Given the description of an element on the screen output the (x, y) to click on. 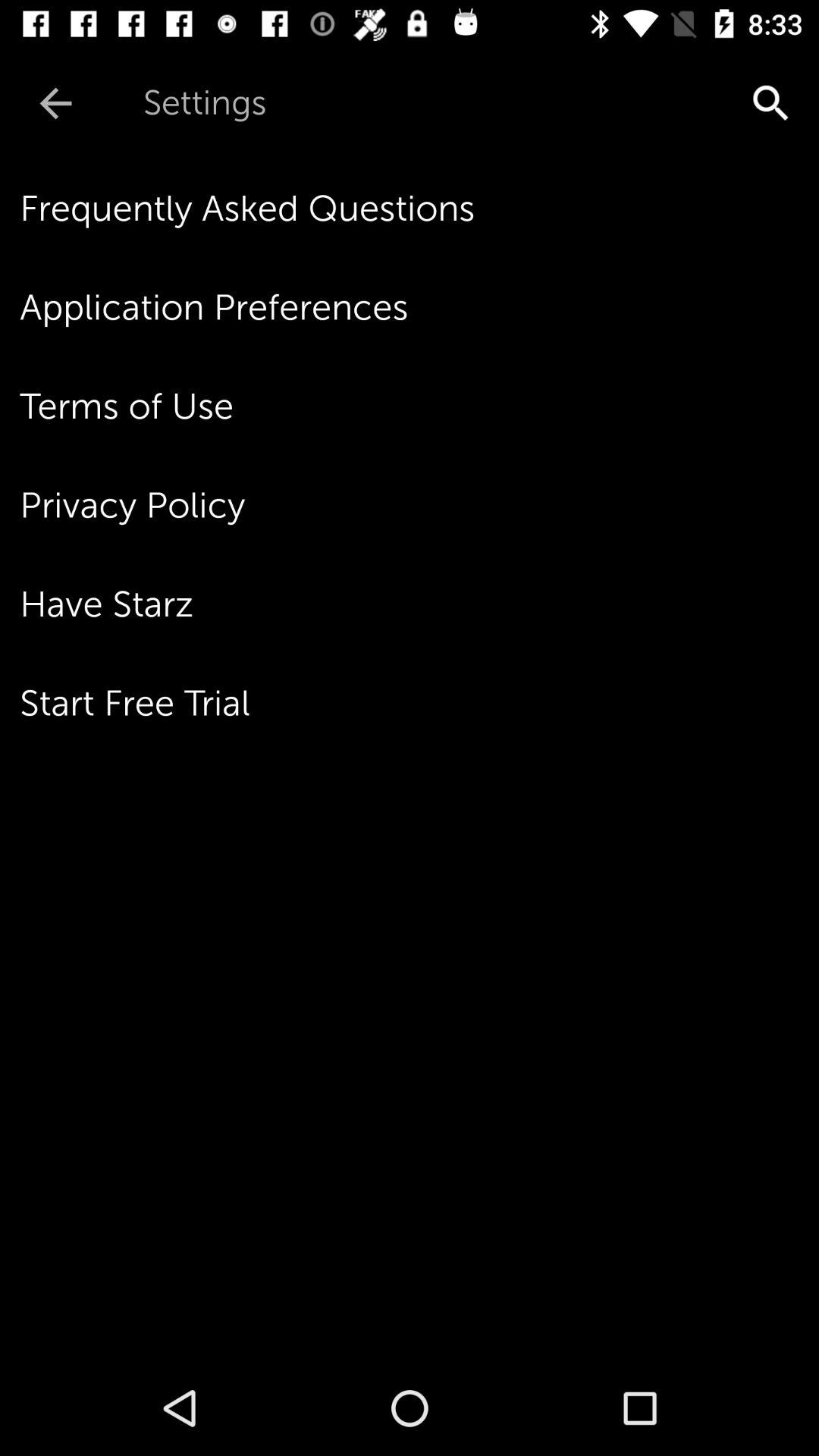
launch the start free trial item (419, 703)
